Given the description of an element on the screen output the (x, y) to click on. 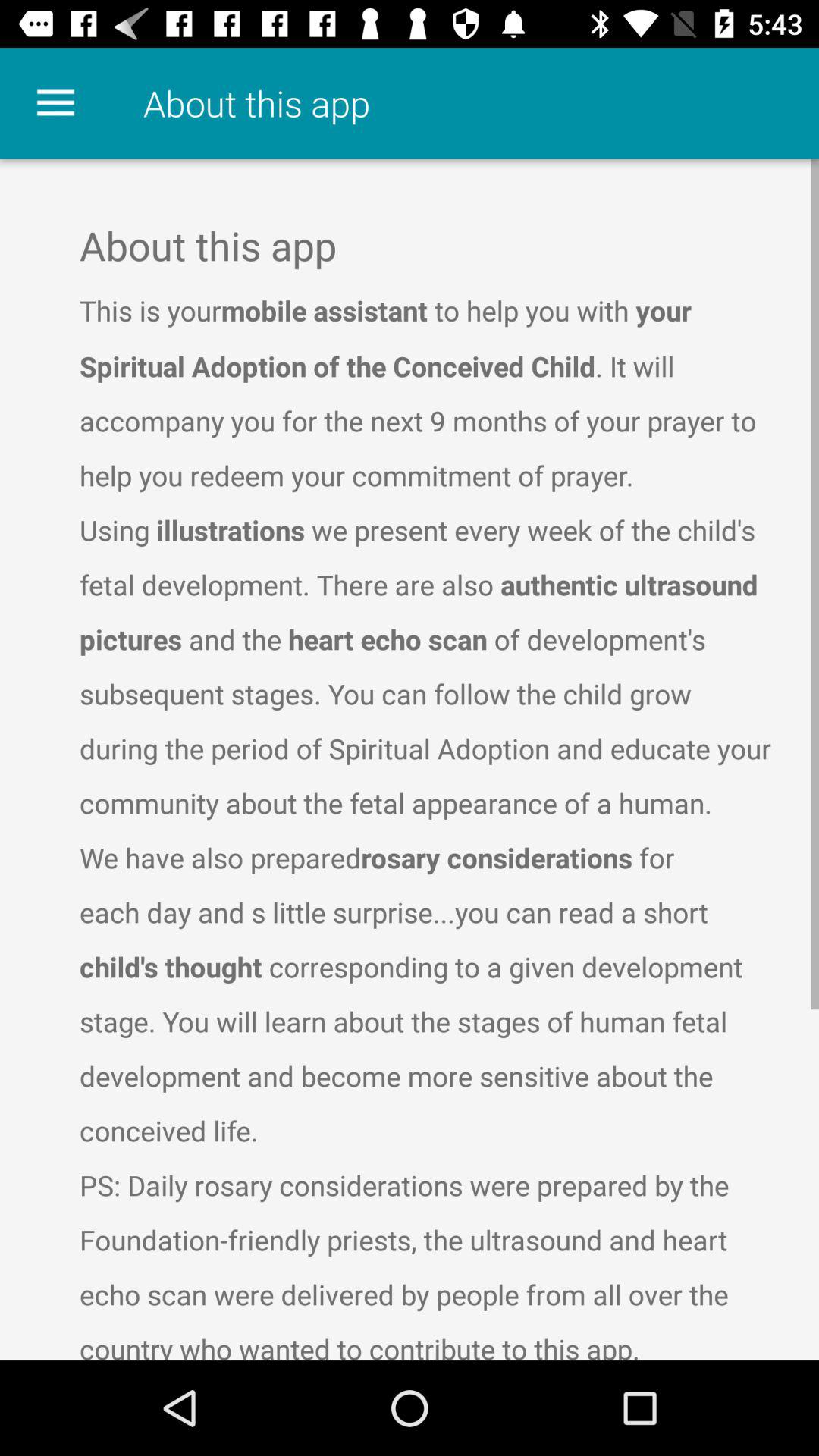
launch the item next to the about this app icon (55, 103)
